Given the description of an element on the screen output the (x, y) to click on. 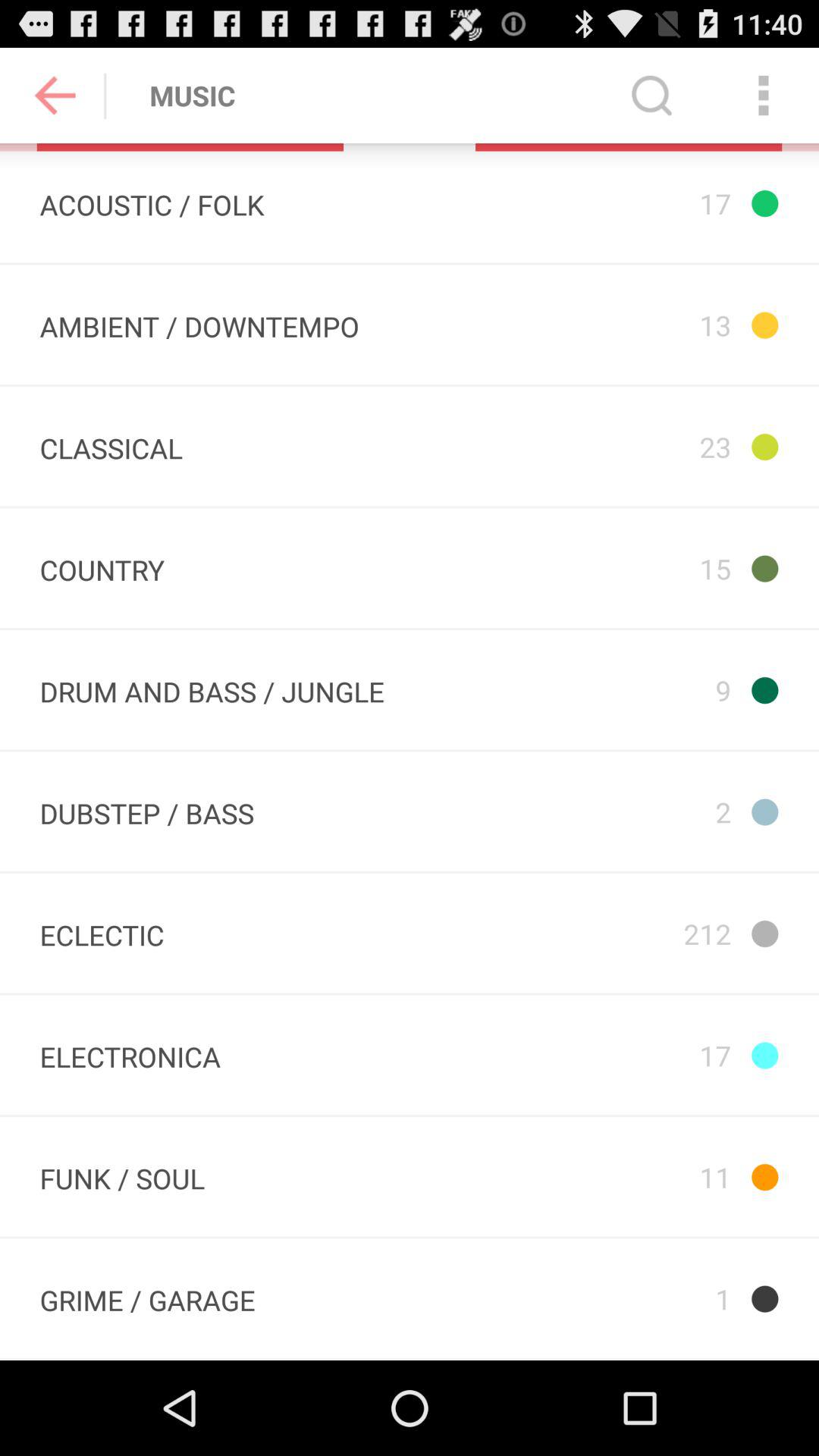
turn off the icon below the 9 app (627, 811)
